Given the description of an element on the screen output the (x, y) to click on. 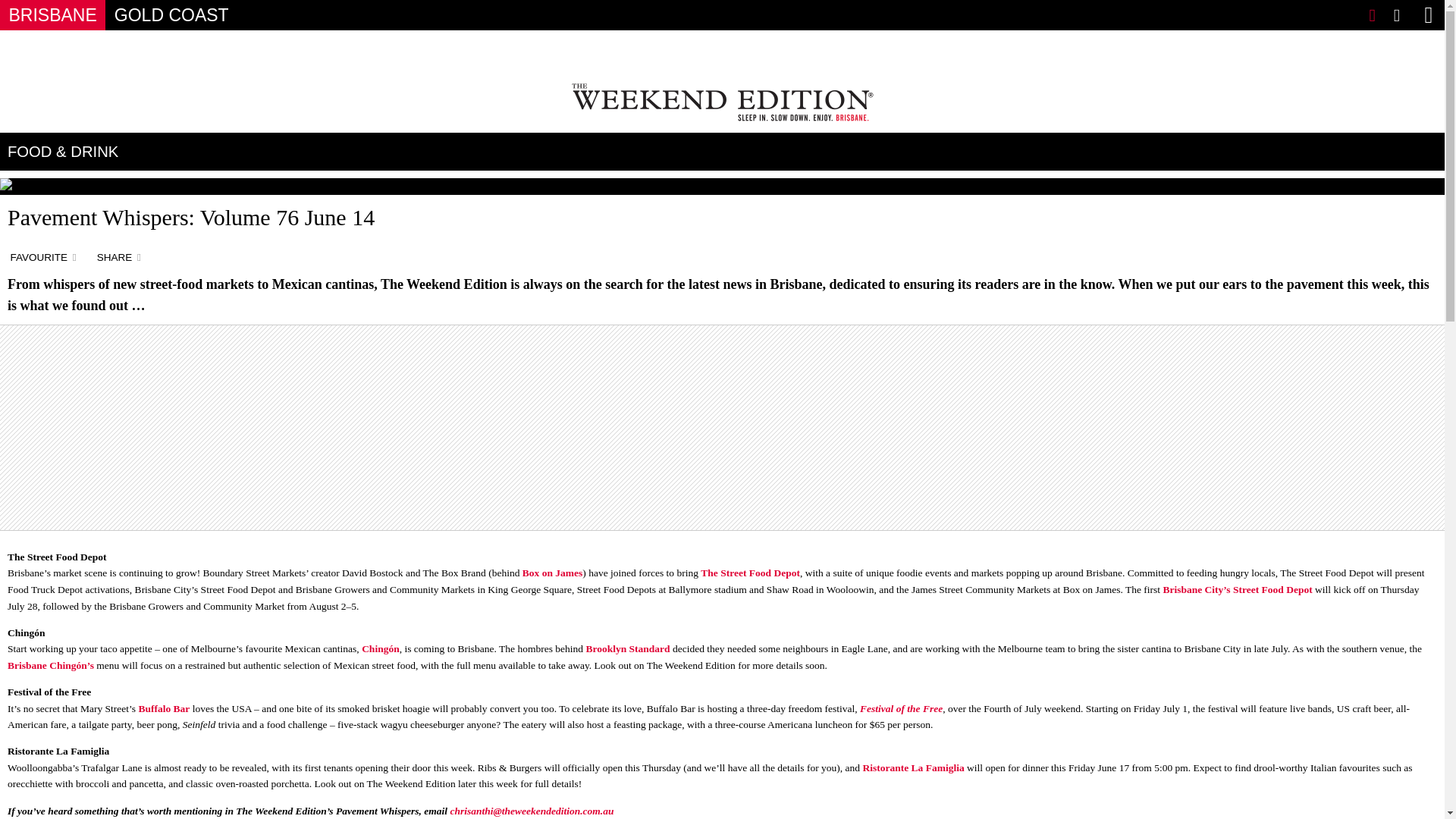
GOLD COAST (170, 15)
The Weekend Edition - Sleep In. Slow Down. Enjoy. (721, 102)
3rd party ad content (721, 427)
Subscribe (1396, 14)
BRISBANE (52, 15)
3rd party ad content (729, 53)
View Favourites (1371, 14)
